Given the description of an element on the screen output the (x, y) to click on. 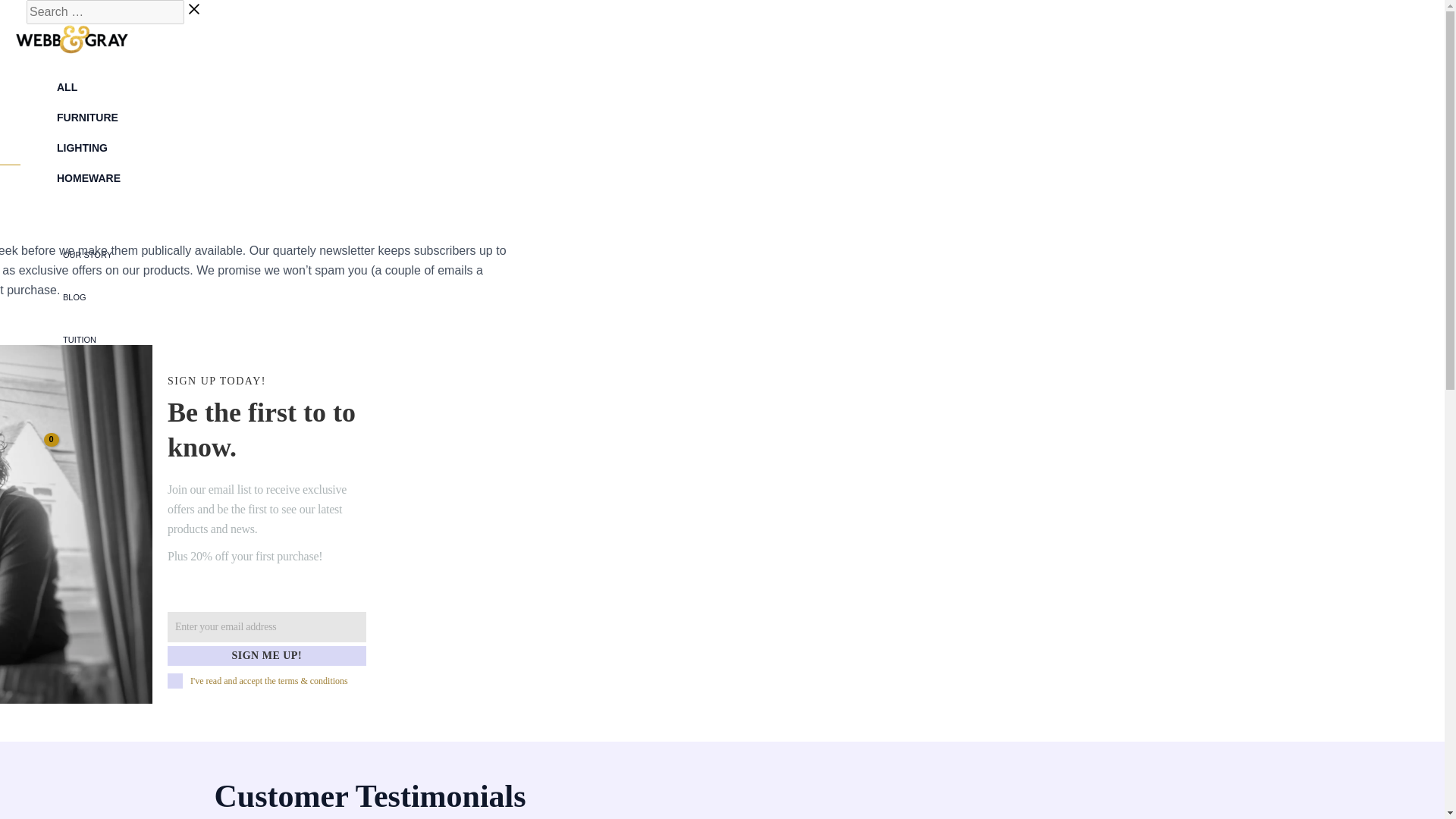
BLOG (86, 297)
HOMEWARE (88, 177)
FURNITURE (88, 117)
LIGHTING (88, 147)
SIGN ME UP! (266, 655)
OUR STORY (86, 254)
ALL (88, 87)
TUITION (86, 339)
Log In (30, 425)
CONTACT (86, 382)
